Given the description of an element on the screen output the (x, y) to click on. 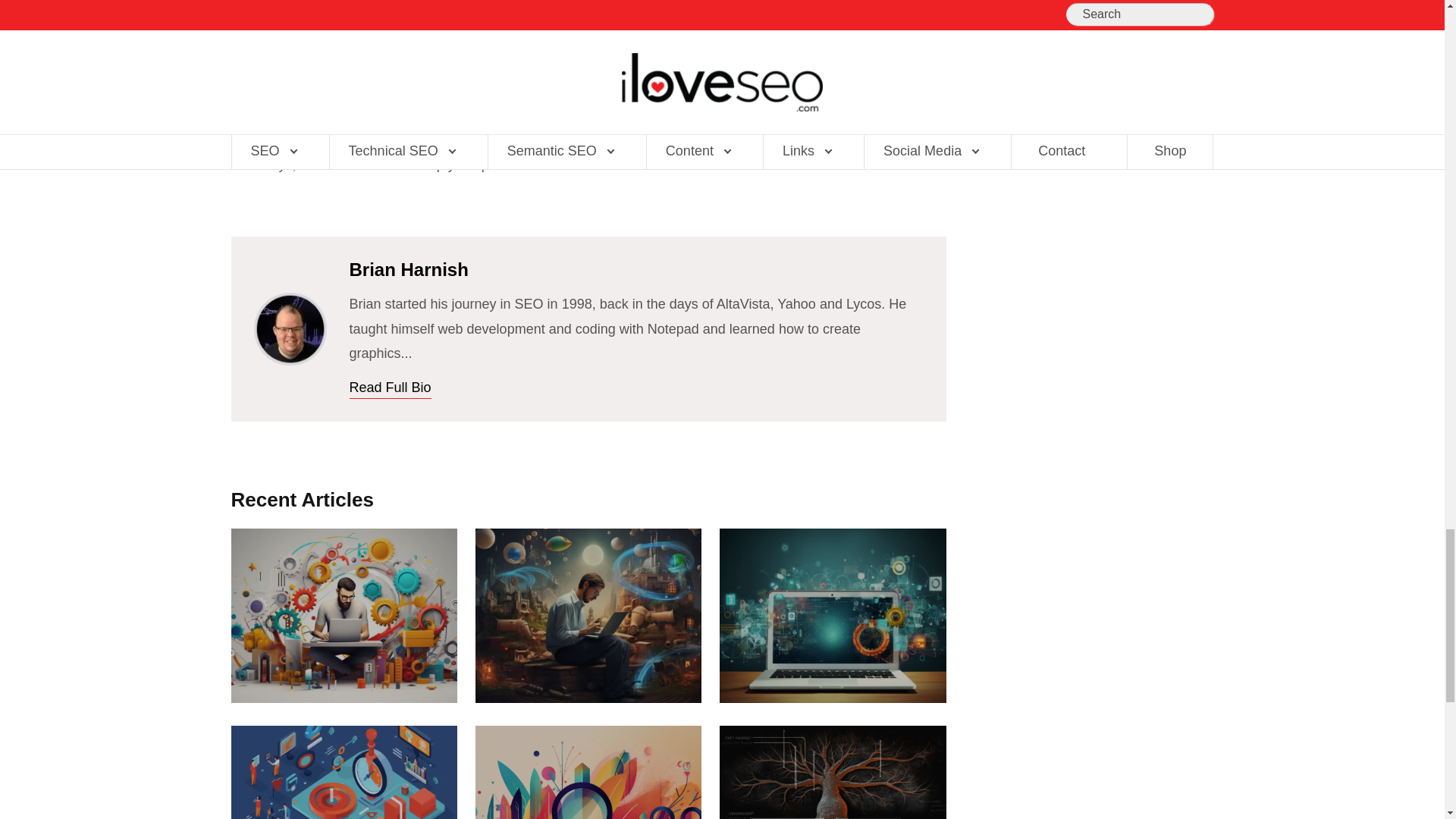
Skills Every SEO Pro Needs for Success (343, 615)
Brian Harnish (289, 328)
Brian Harnish (289, 304)
Read Full Bio (389, 387)
